Given the description of an element on the screen output the (x, y) to click on. 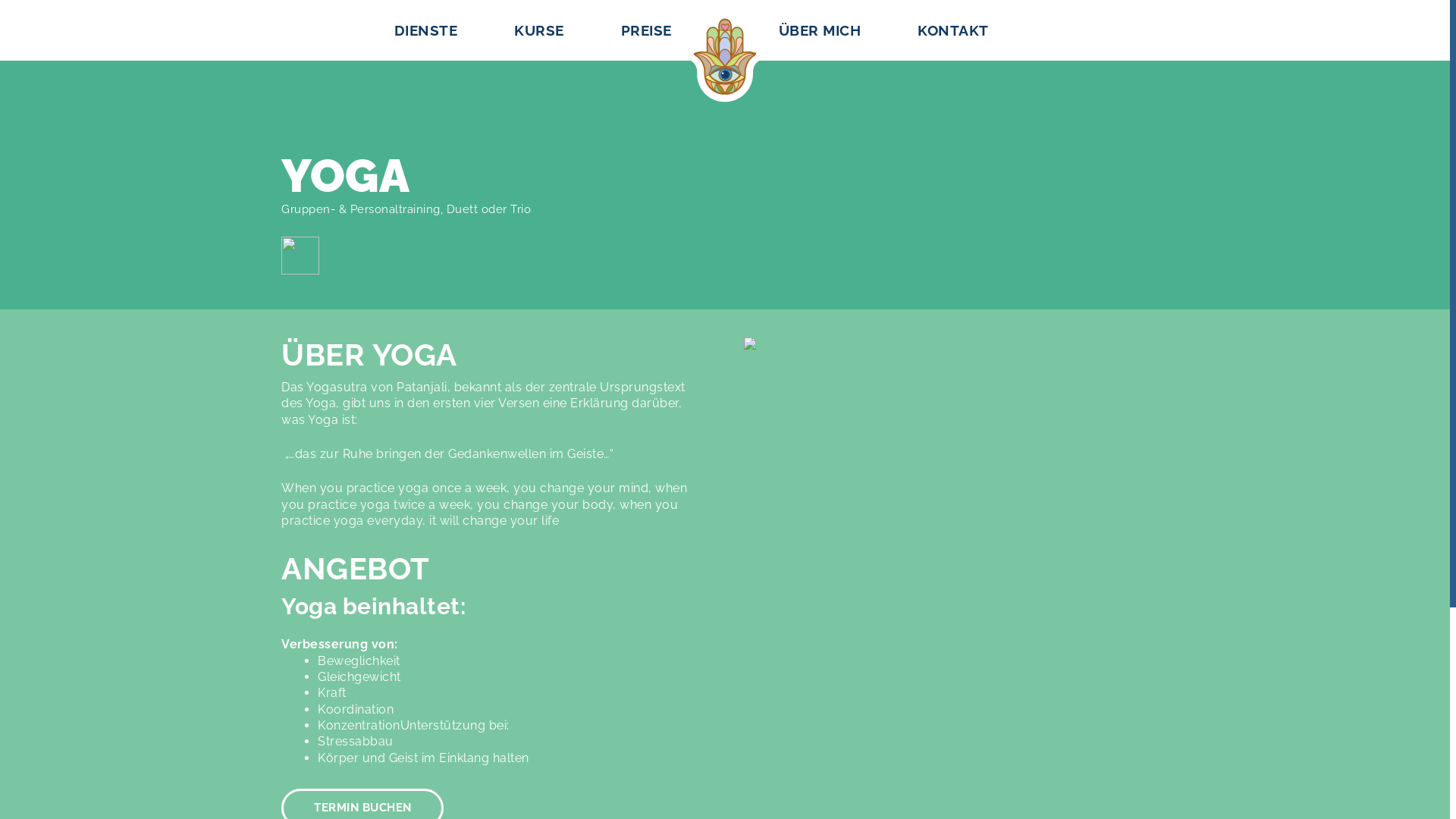
PREISE Element type: text (631, 31)
KONTAKT Element type: text (952, 31)
KURSE Element type: text (538, 31)
DIENSTE Element type: text (425, 31)
